Given the description of an element on the screen output the (x, y) to click on. 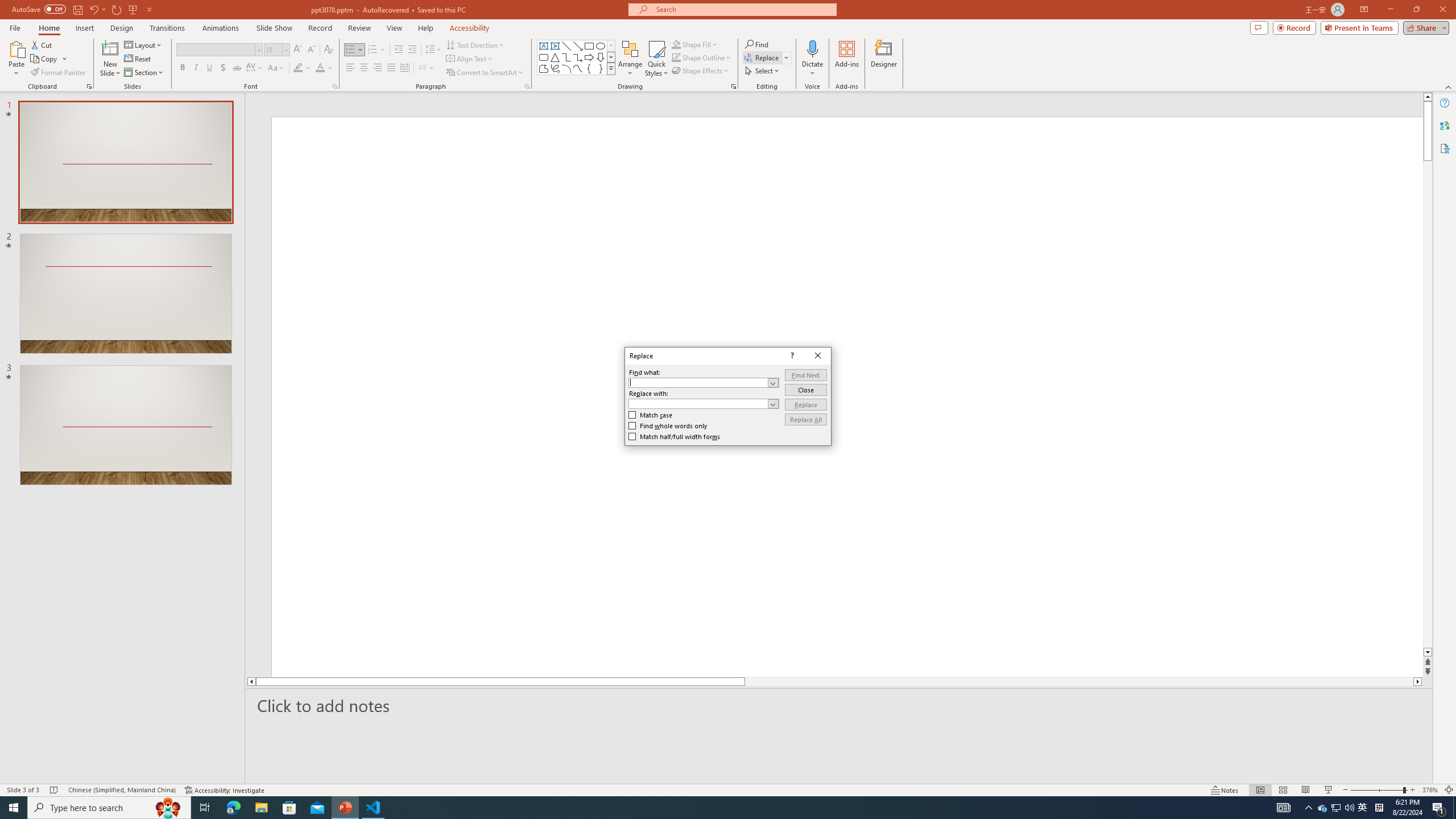
Zoom 376% (1430, 790)
Replace (805, 404)
